Given the description of an element on the screen output the (x, y) to click on. 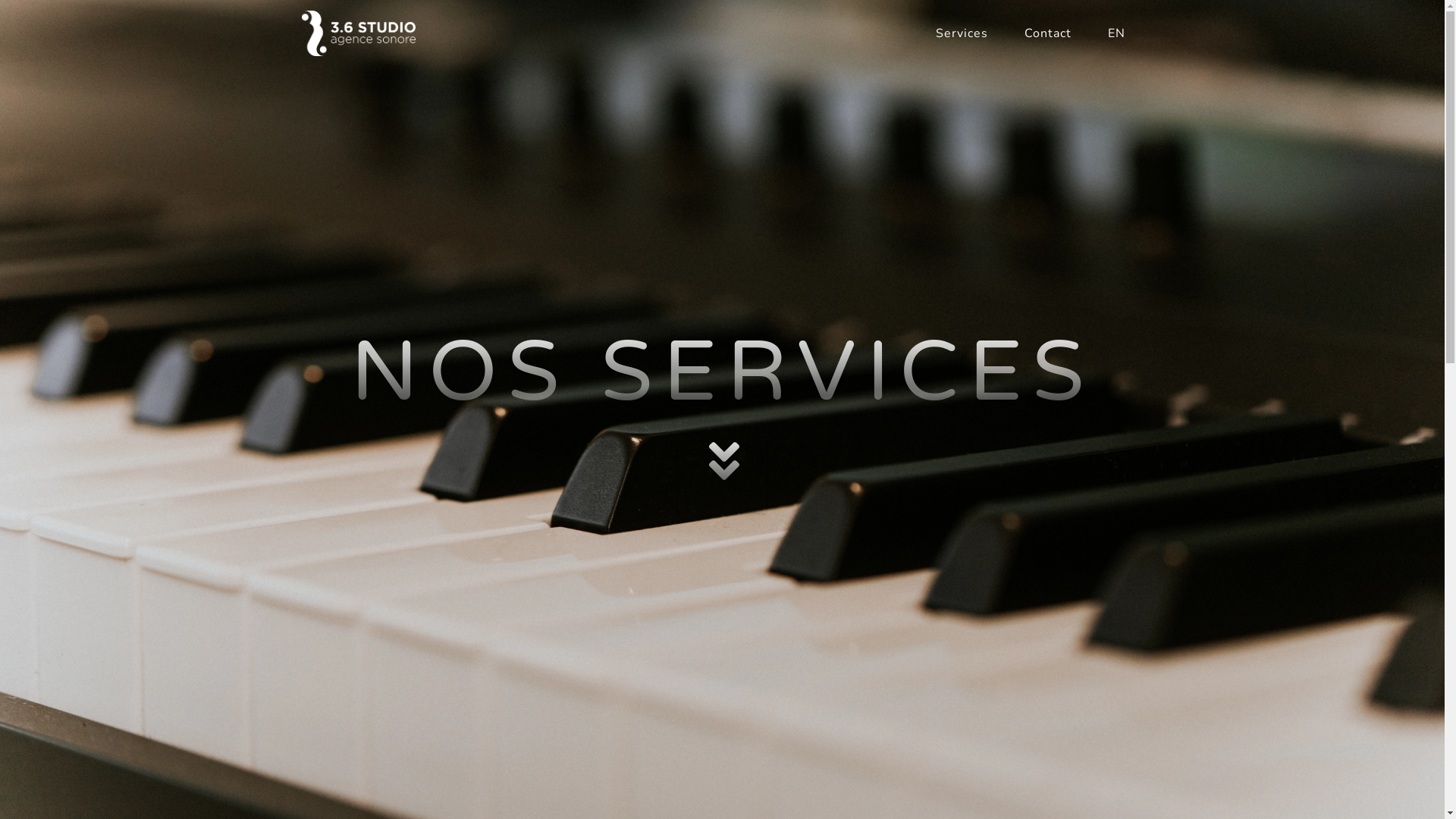
EN Element type: text (1115, 33)
Services Element type: text (961, 33)
Contact Element type: text (1046, 33)
